Given the description of an element on the screen output the (x, y) to click on. 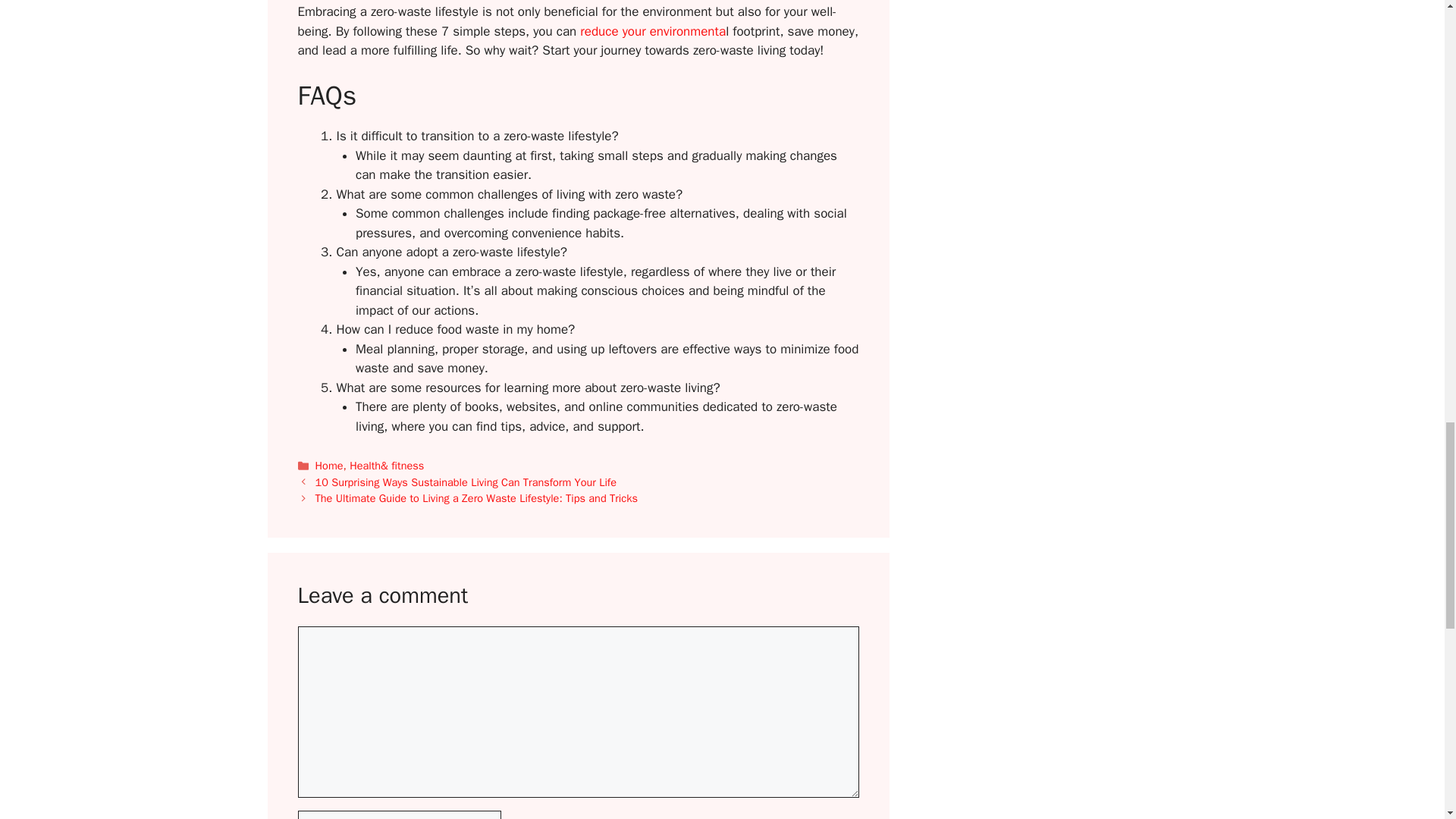
Home (329, 465)
reduce your environmenta (652, 31)
